Given the description of an element on the screen output the (x, y) to click on. 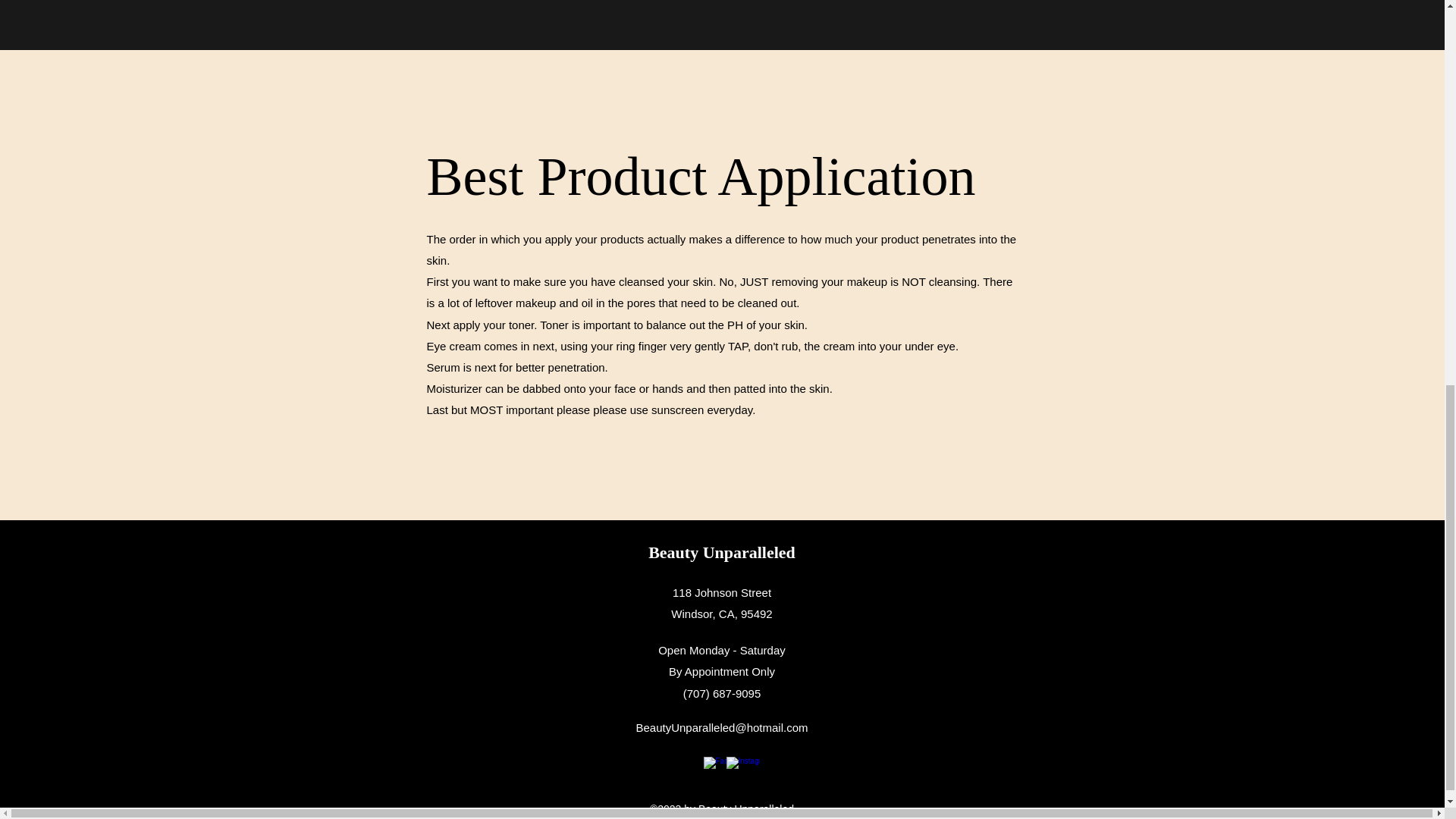
Beauty Unparalleled (720, 551)
